Given the description of an element on the screen output the (x, y) to click on. 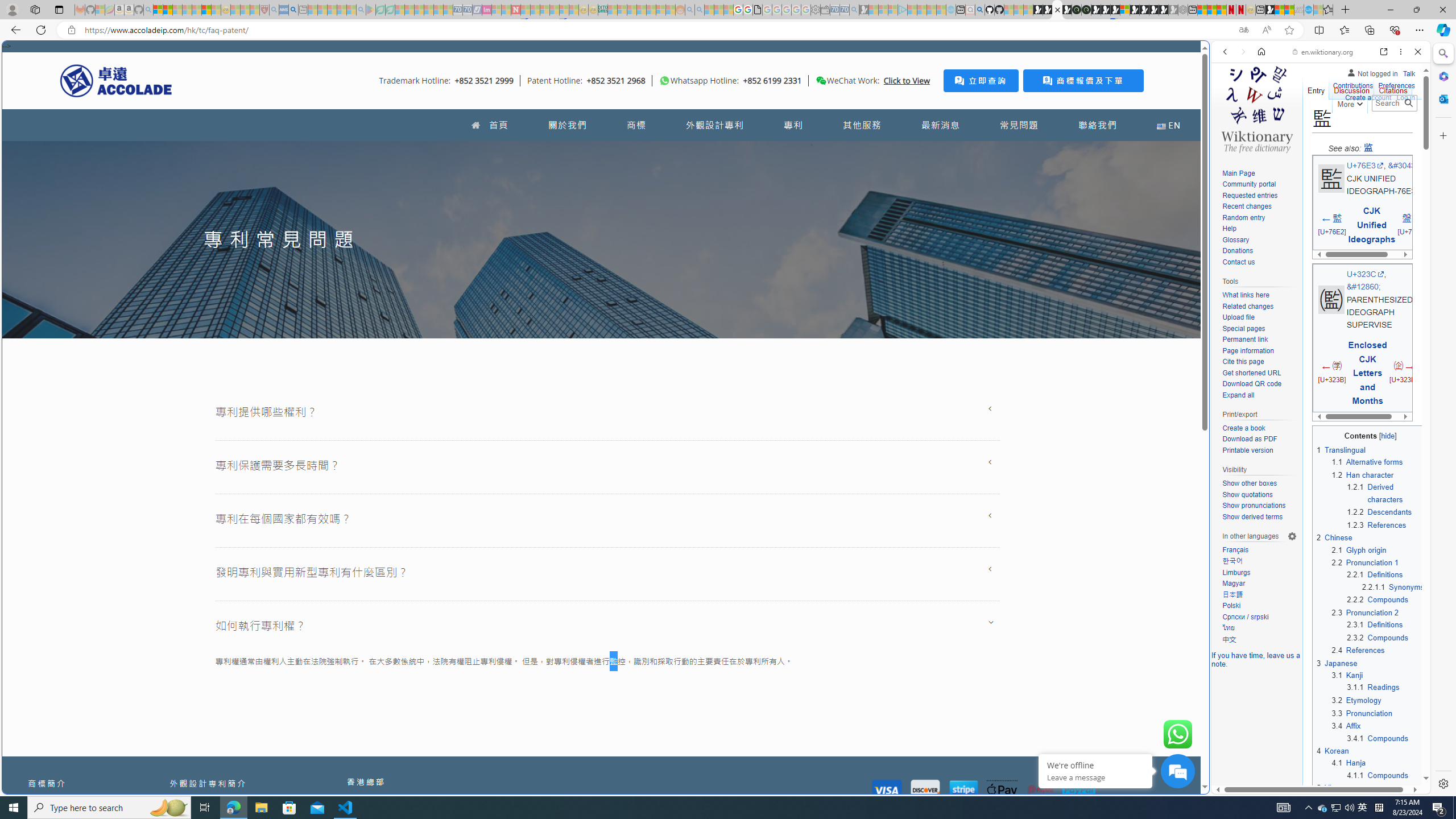
Printable version (1247, 449)
Upload file (1238, 317)
2.1Glyph origin (1377, 549)
Permanent link (1244, 339)
